Given the description of an element on the screen output the (x, y) to click on. 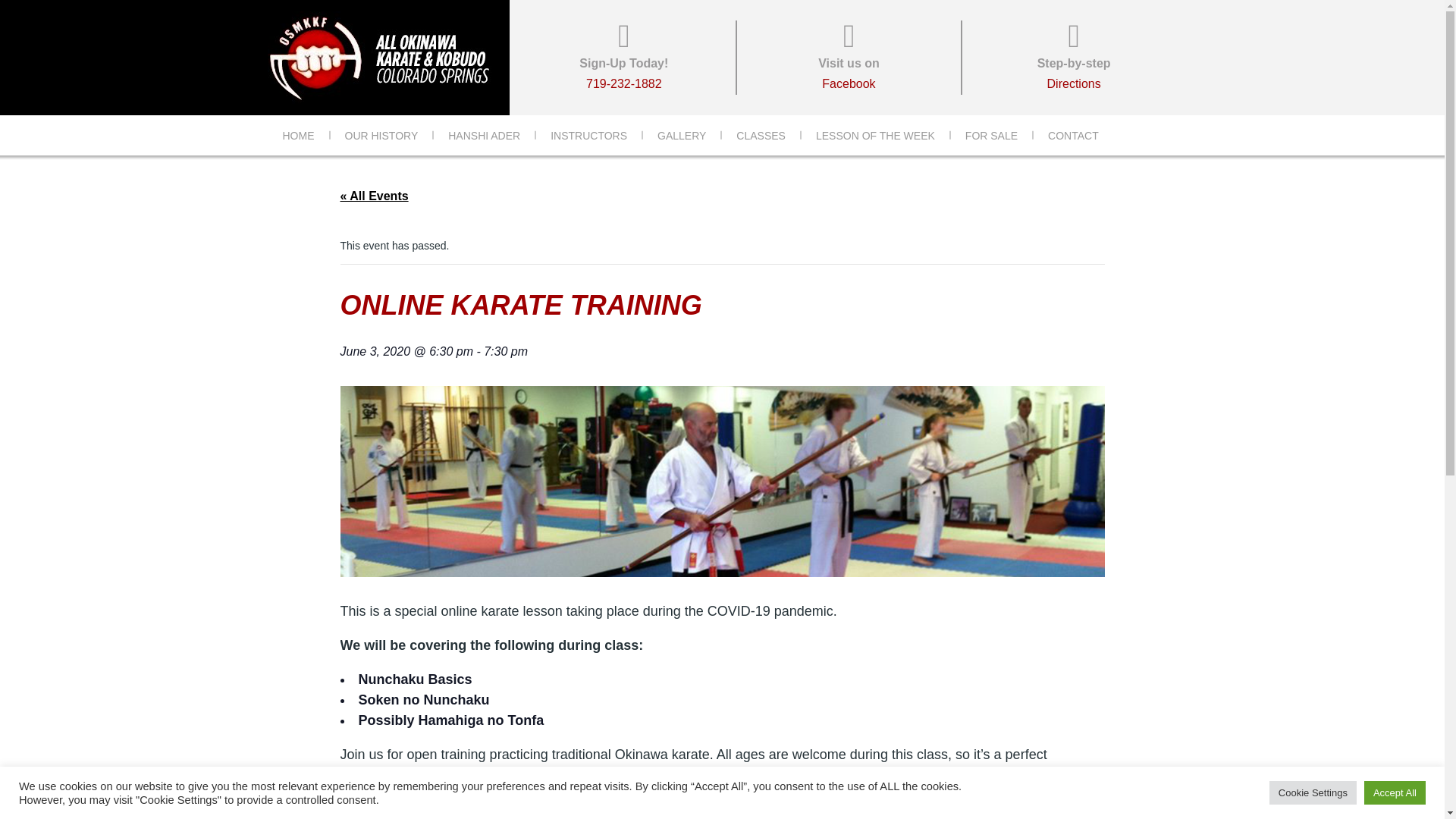
FOR SALE (991, 135)
719-232-1882 (1074, 57)
INSTRUCTORS (397, 795)
HANSHI ADER (588, 135)
CONTACT (483, 135)
OUR HISTORY (848, 57)
CLASSES (1072, 135)
GALLERY (380, 135)
HOME (760, 135)
Contact Hanshi Ader via our contact form here (681, 135)
LESSON OF THE WEEK (297, 135)
